Given the description of an element on the screen output the (x, y) to click on. 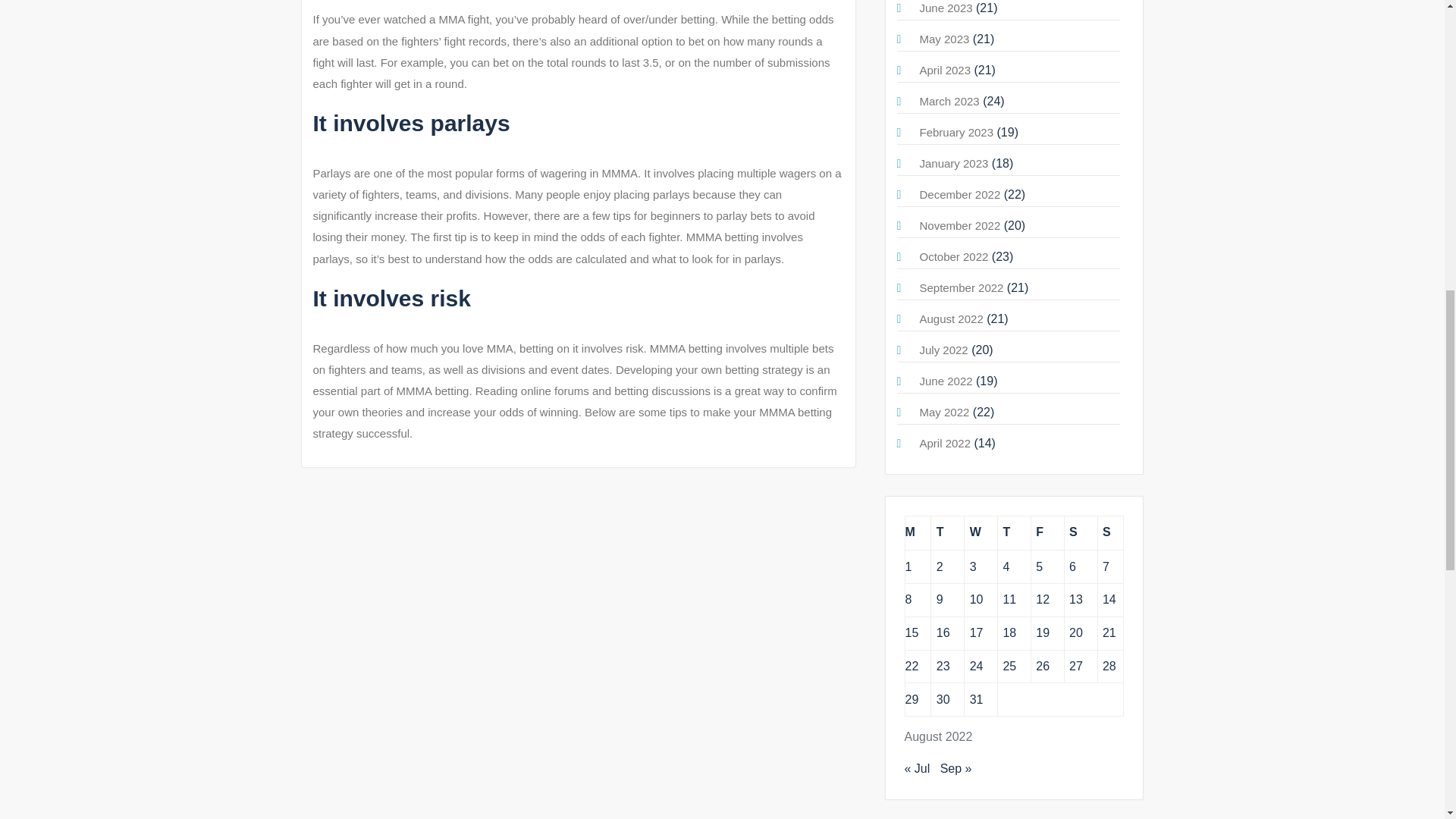
November 2022 (959, 225)
April 2023 (944, 69)
August 2022 (950, 318)
January 2023 (953, 163)
Tuesday (947, 532)
April 2022 (944, 442)
Thursday (1013, 532)
July 2022 (943, 349)
September 2022 (960, 287)
Friday (1047, 532)
December 2022 (959, 194)
June 2023 (945, 7)
May 2022 (943, 411)
February 2023 (955, 132)
May 2023 (943, 38)
